Given the description of an element on the screen output the (x, y) to click on. 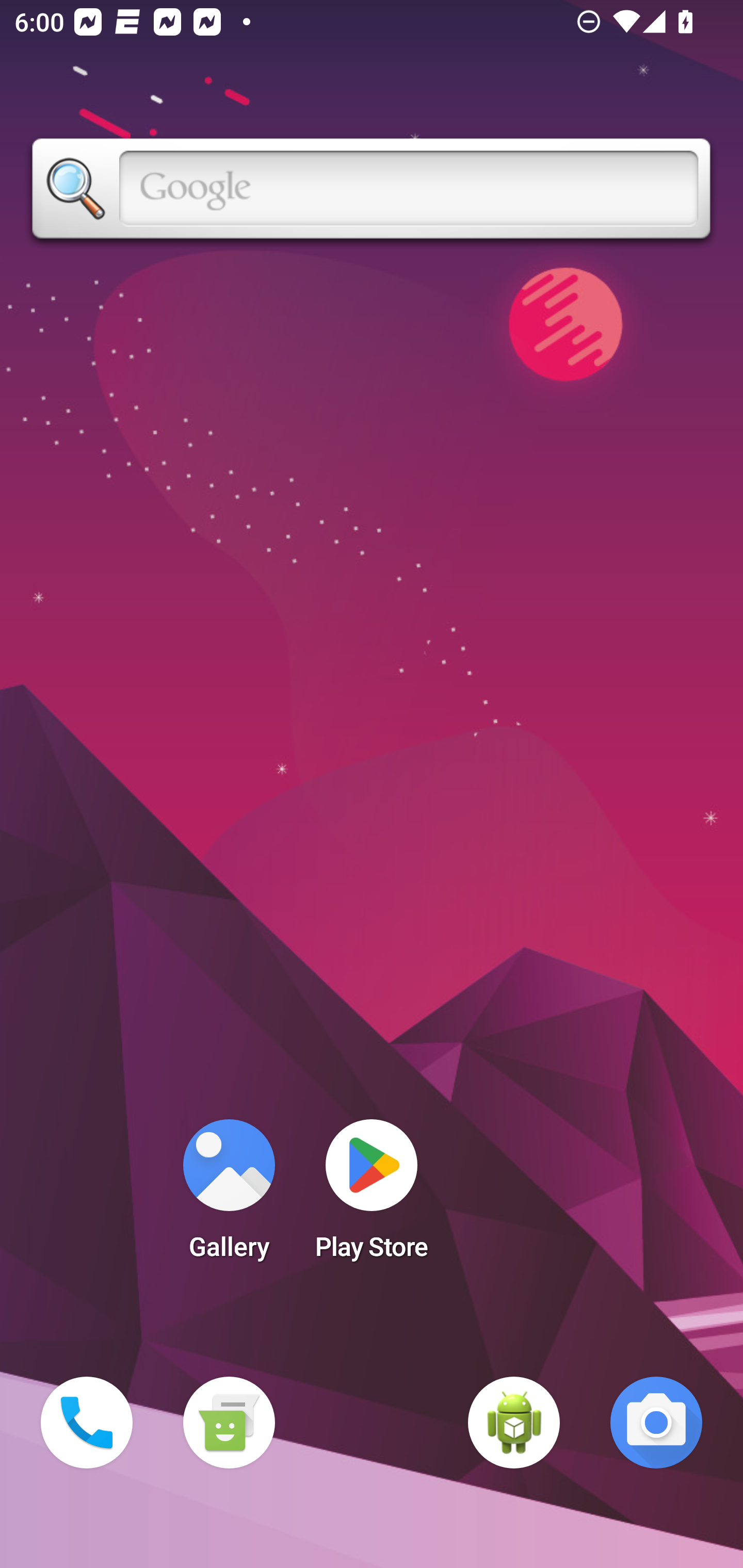
Gallery (228, 1195)
Play Store (371, 1195)
Phone (86, 1422)
Messaging (228, 1422)
WebView Browser Tester (513, 1422)
Camera (656, 1422)
